Given the description of an element on the screen output the (x, y) to click on. 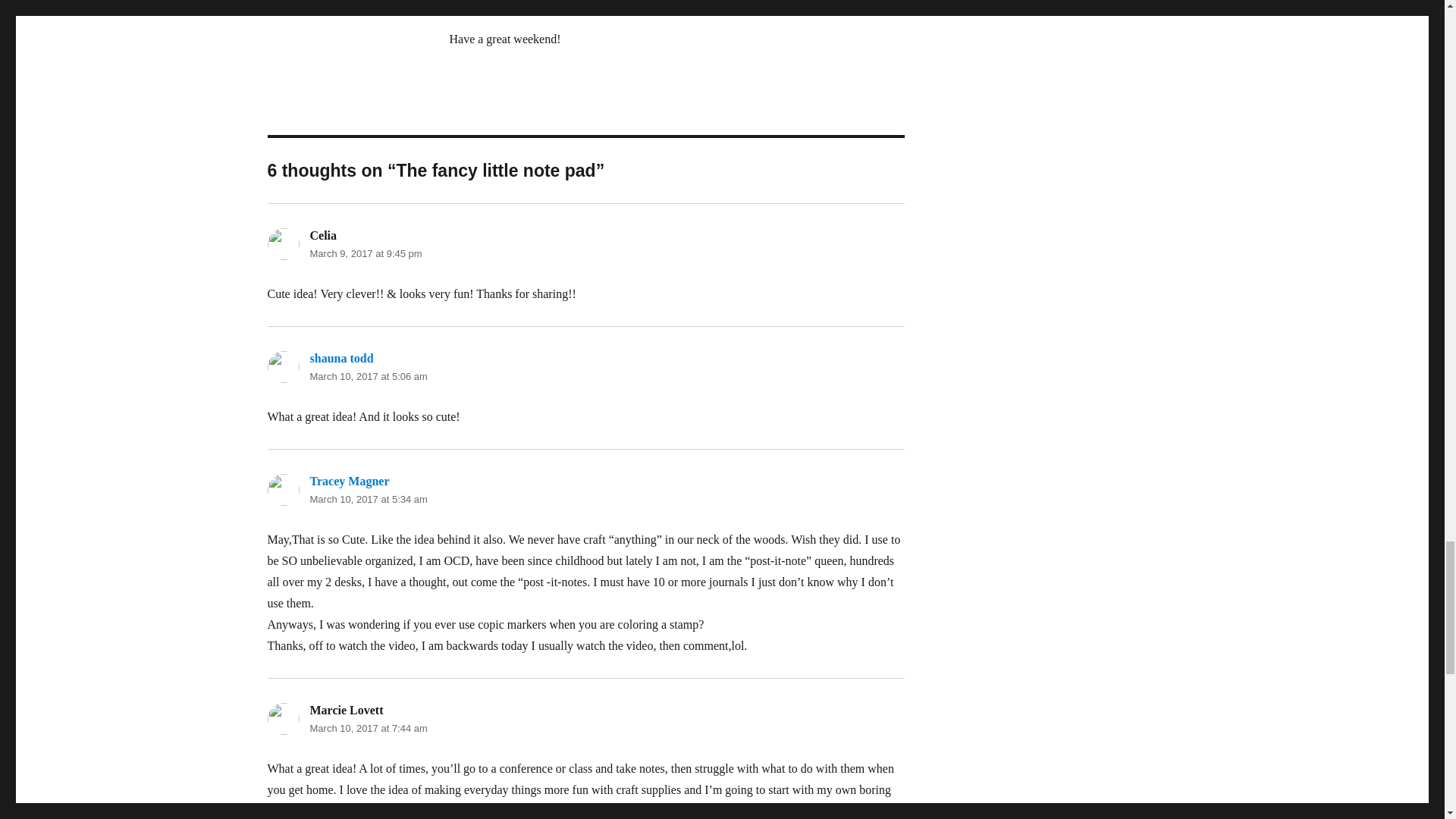
March 10, 2017 at 5:34 am (367, 499)
shauna todd (340, 358)
March 10, 2017 at 7:44 am (367, 727)
March 9, 2017 at 9:45 pm (365, 253)
Tracey Magner (348, 481)
March 10, 2017 at 5:06 am (367, 376)
